Given the description of an element on the screen output the (x, y) to click on. 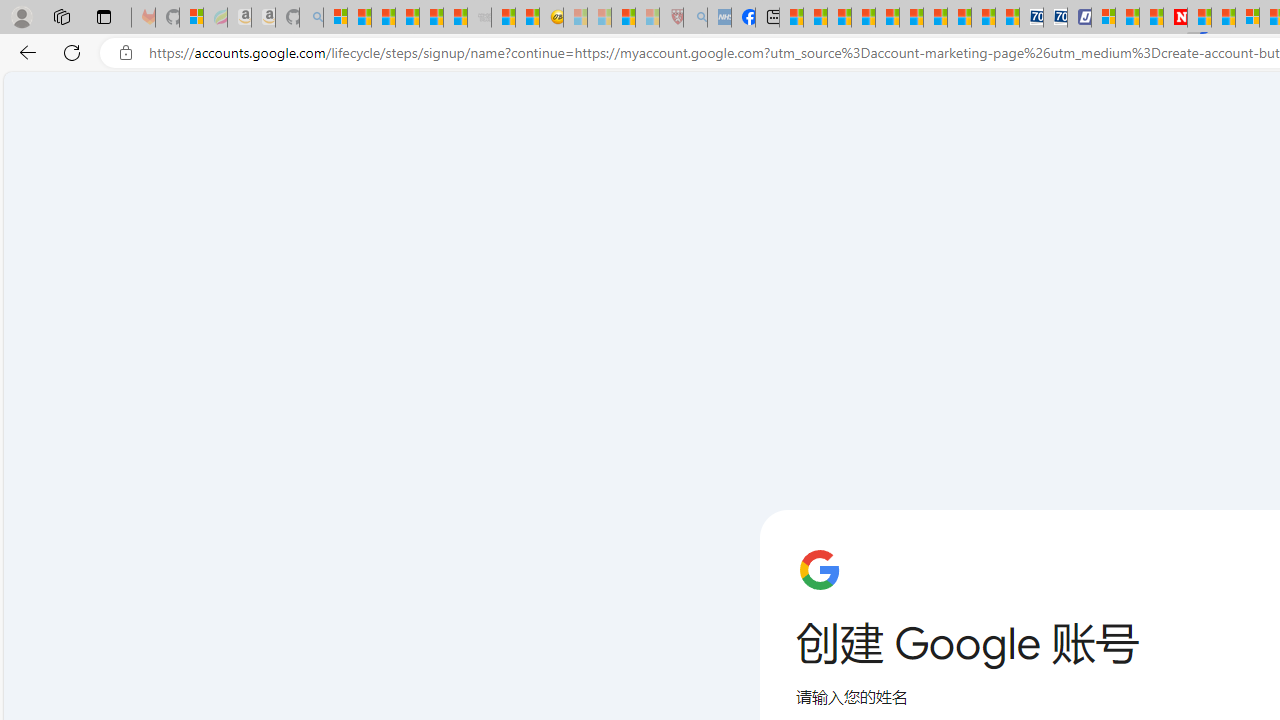
12 Popular Science Lies that Must be Corrected - Sleeping (647, 17)
Newsweek - News, Analysis, Politics, Business, Technology (1174, 17)
